Given the description of an element on the screen output the (x, y) to click on. 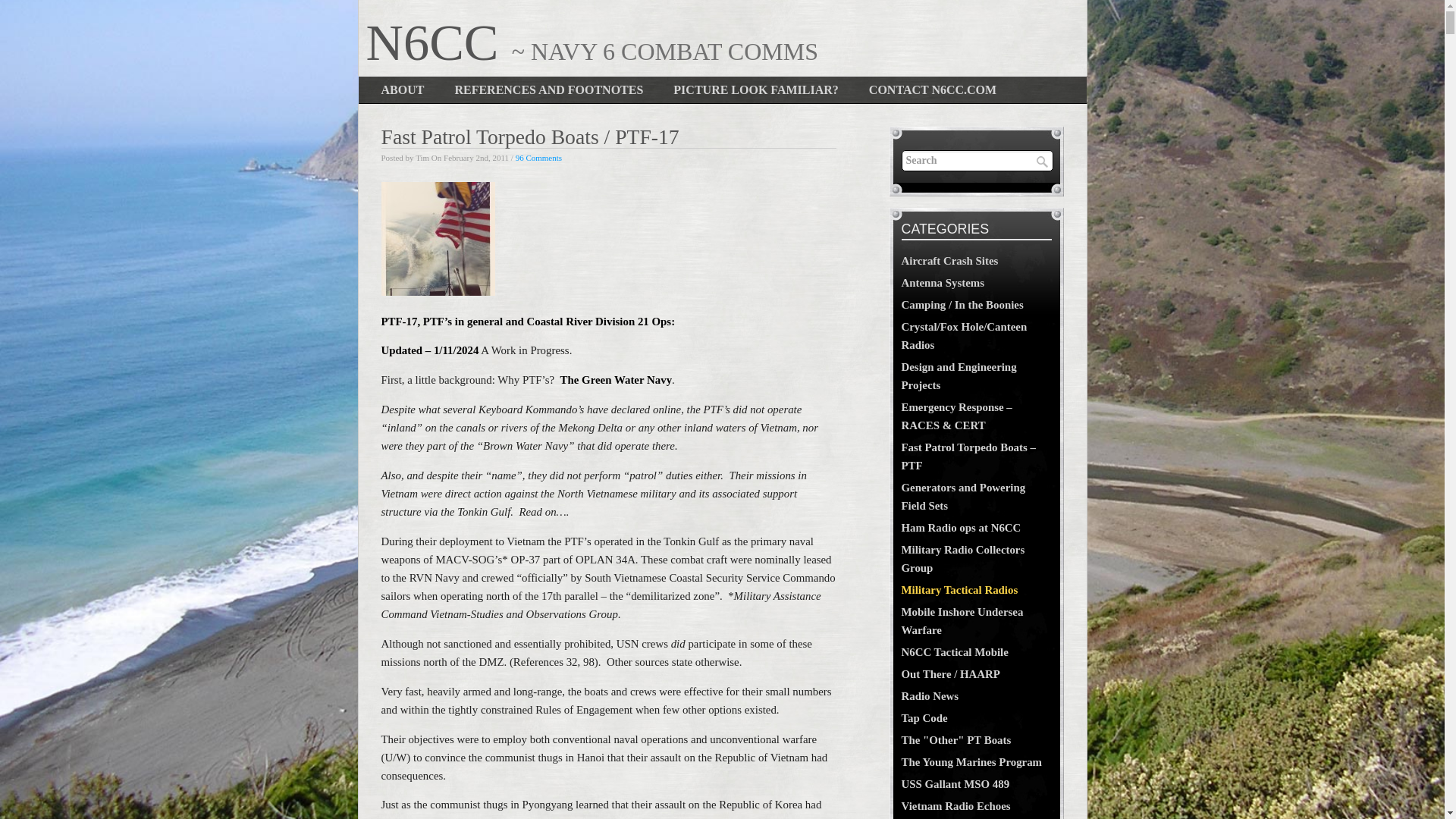
PICTURE LOOK FAMILIAR? (755, 89)
N6CC (438, 42)
ABOUT (402, 89)
REFERENCES AND FOOTNOTES (548, 89)
96 Comments (538, 157)
N6CC (438, 42)
CONTACT N6CC.COM (932, 89)
Search (976, 160)
